Given the description of an element on the screen output the (x, y) to click on. 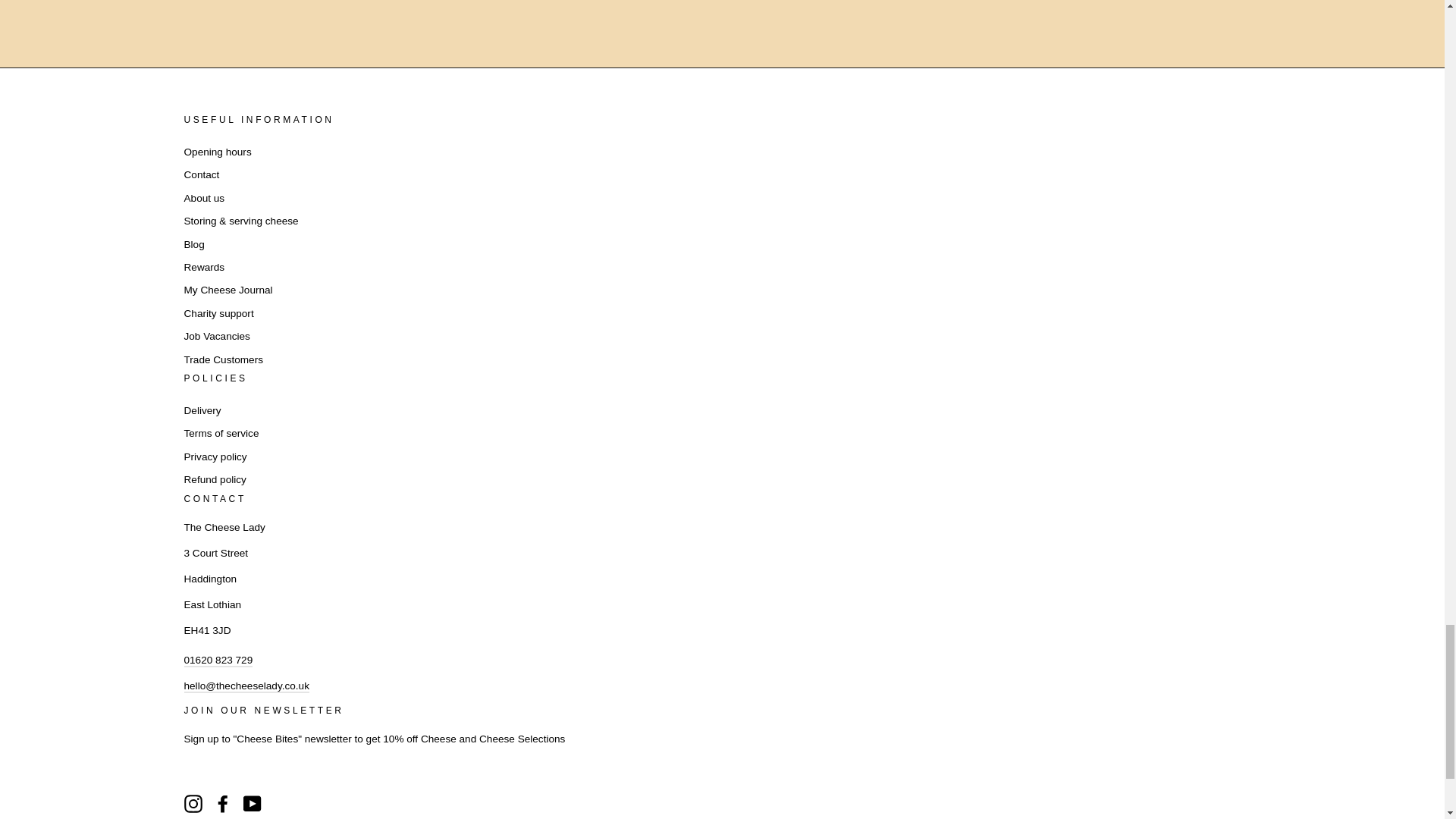
The Cheese Lady on Facebook (222, 803)
The Cheese Lady on YouTube (251, 803)
Telephone (217, 667)
The Cheese Lady on Instagram (192, 803)
Email address (245, 686)
